Given the description of an element on the screen output the (x, y) to click on. 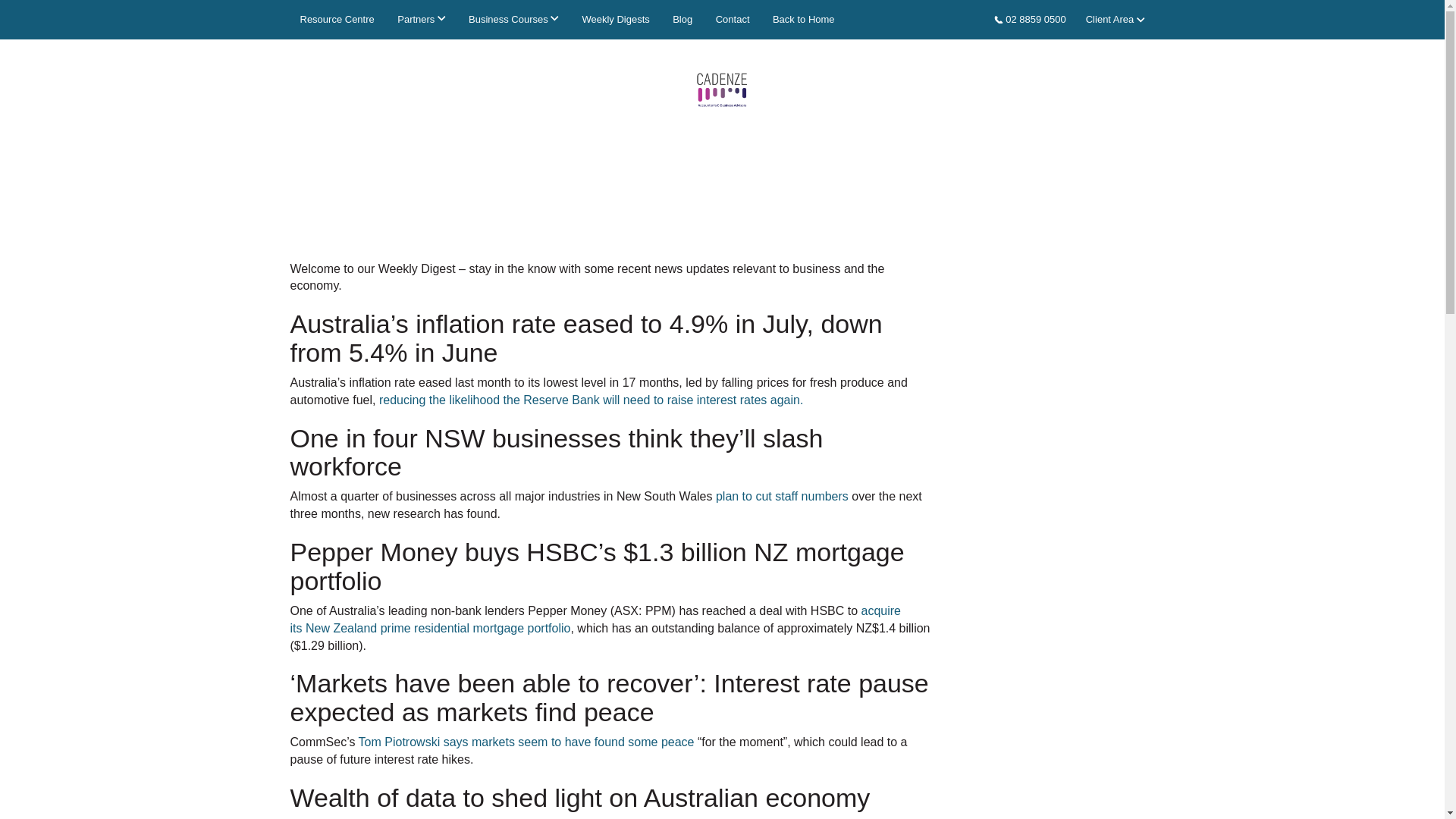
Contact (733, 19)
Back to Home (803, 19)
Resource Centre (336, 19)
Blog (681, 19)
Partners  (420, 19)
Business Courses (513, 19)
plan to cut staff numbers (782, 495)
Contact (733, 19)
acquire its New Zealand prime residential mortgage portfolio (595, 619)
Partners (420, 19)
Tom Piotrowski says markets seem to have found some peace (526, 741)
Blog (681, 19)
Client Area (1115, 19)
Business Courses  (513, 19)
